Given the description of an element on the screen output the (x, y) to click on. 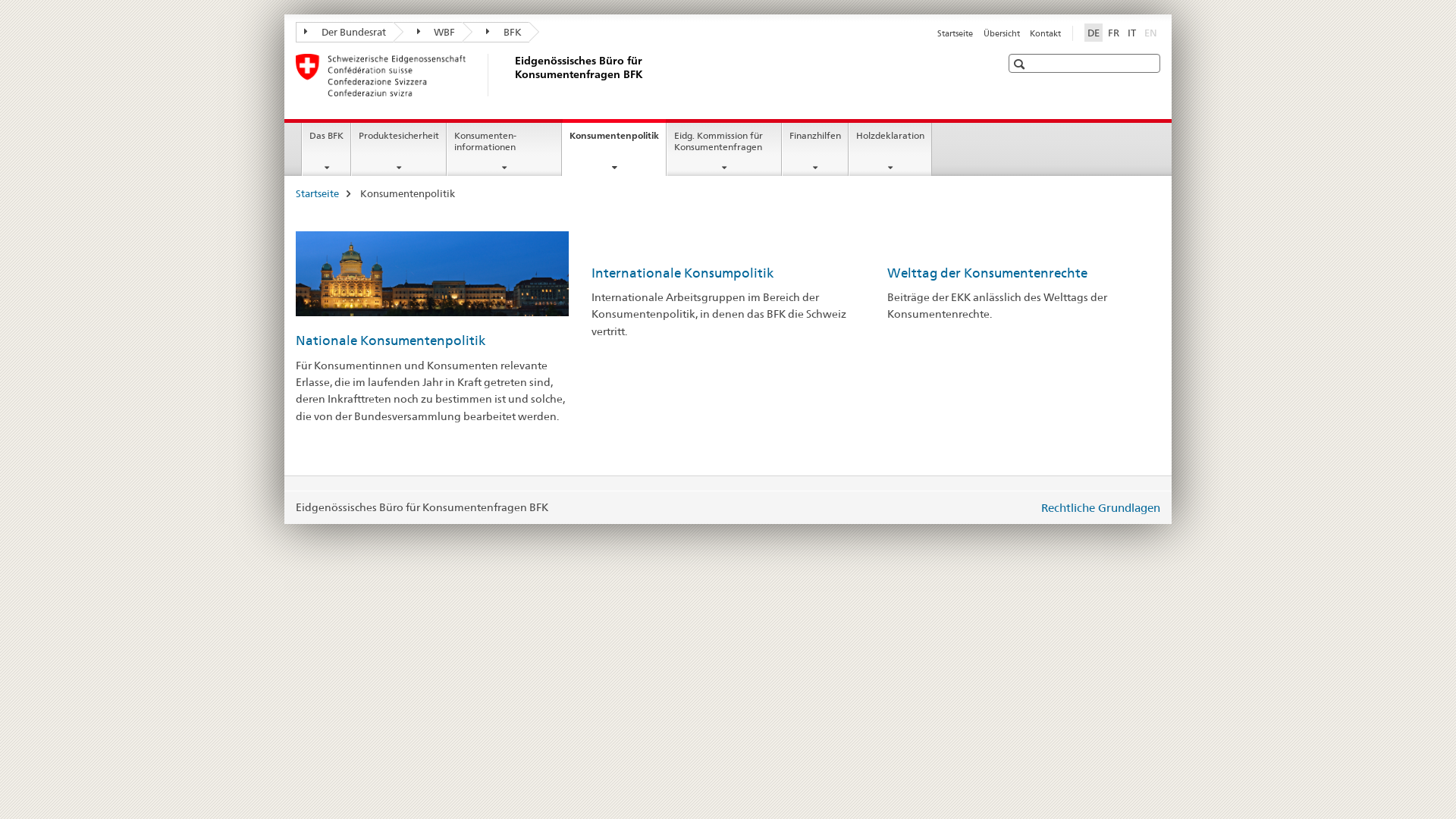
EN
disabled Element type: text (1150, 32)
Nationale Konsumentenpolitik Element type: text (390, 340)
FR Element type: text (1113, 32)
BFK Element type: text (495, 31)
Konsumentenpolitik
current page Element type: text (613, 147)
Rechtliche Grundlagen Element type: text (1100, 507)
Der Bundesrat Element type: text (344, 31)
Finanzhilfen Element type: text (814, 148)
Holzdeklaration Element type: text (890, 148)
WBF Element type: text (427, 31)
Kontakt Element type: text (1044, 33)
Startseite Element type: text (954, 33)
Startseite Element type: text (316, 193)
Welttag der Konsumentenrechte Element type: text (987, 272)
DE Element type: text (1093, 32)
Das BFK Element type: text (326, 148)
IT Element type: text (1131, 32)
Produktesicherheit Element type: text (398, 148)
Internationale Konsumpolitik Element type: text (682, 272)
Konsumenten- informationen Element type: text (504, 148)
